Given the description of an element on the screen output the (x, y) to click on. 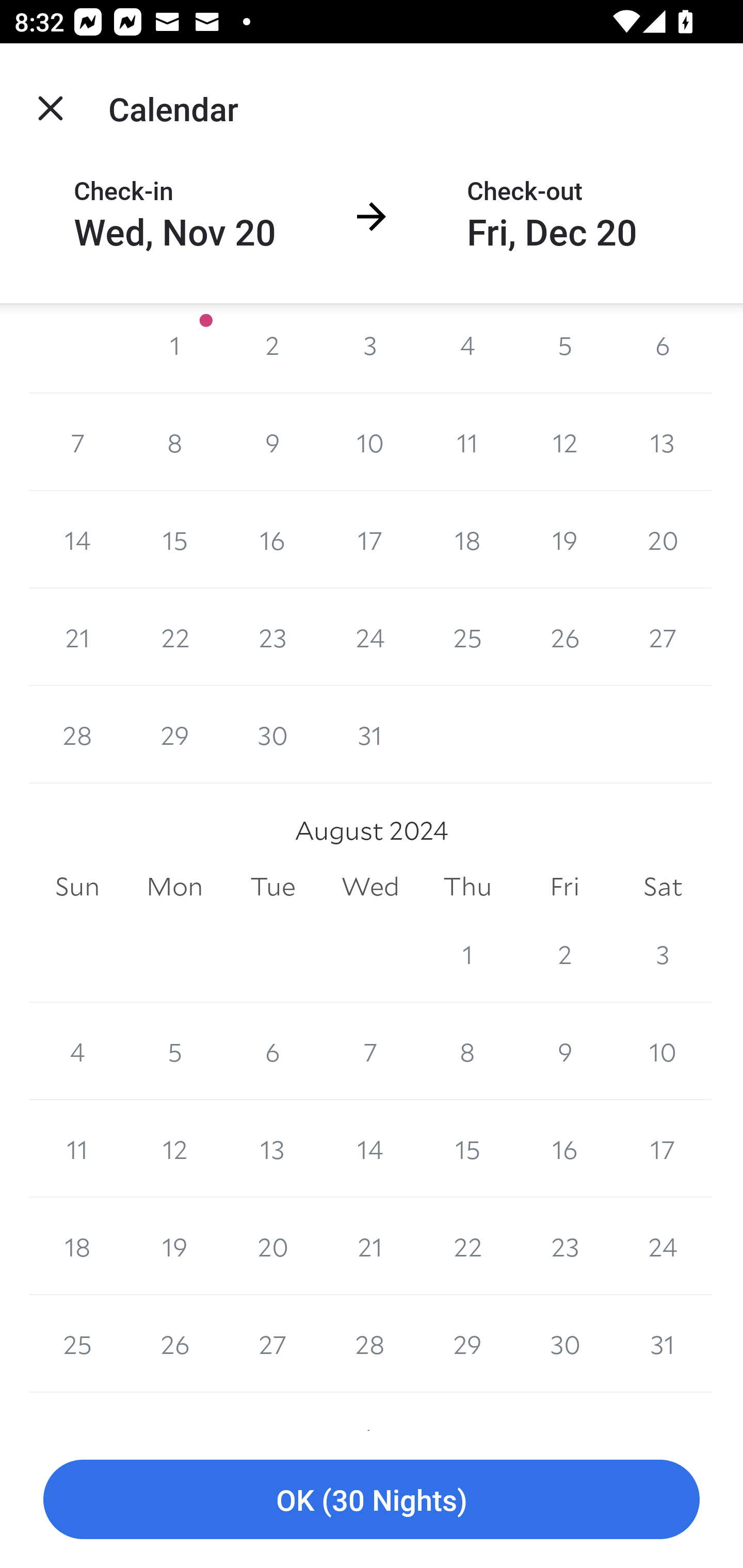
1 1 July 2024 (174, 347)
2 2 July 2024 (272, 347)
3 3 July 2024 (370, 347)
4 4 July 2024 (467, 347)
5 5 July 2024 (564, 347)
6 6 July 2024 (662, 347)
7 7 July 2024 (77, 441)
8 8 July 2024 (174, 441)
9 9 July 2024 (272, 441)
10 10 July 2024 (370, 441)
11 11 July 2024 (467, 441)
12 12 July 2024 (564, 441)
13 13 July 2024 (662, 441)
14 14 July 2024 (77, 539)
15 15 July 2024 (174, 539)
16 16 July 2024 (272, 539)
17 17 July 2024 (370, 539)
18 18 July 2024 (467, 539)
19 19 July 2024 (564, 539)
20 20 July 2024 (662, 539)
21 21 July 2024 (77, 637)
22 22 July 2024 (174, 637)
23 23 July 2024 (272, 637)
24 24 July 2024 (370, 637)
25 25 July 2024 (467, 637)
26 26 July 2024 (564, 637)
27 27 July 2024 (662, 637)
28 28 July 2024 (77, 735)
29 29 July 2024 (174, 735)
30 30 July 2024 (272, 735)
31 31 July 2024 (370, 735)
Sun (77, 886)
Mon (174, 886)
Tue (272, 886)
Wed (370, 886)
Thu (467, 886)
Fri (564, 886)
Sat (662, 886)
1 1 August 2024 (467, 952)
2 2 August 2024 (564, 952)
3 3 August 2024 (662, 952)
4 4 August 2024 (77, 1050)
5 5 August 2024 (174, 1050)
6 6 August 2024 (272, 1050)
7 7 August 2024 (370, 1050)
8 8 August 2024 (467, 1050)
9 9 August 2024 (564, 1050)
10 10 August 2024 (662, 1050)
11 11 August 2024 (77, 1148)
12 12 August 2024 (174, 1148)
13 13 August 2024 (272, 1148)
14 14 August 2024 (370, 1148)
15 15 August 2024 (467, 1148)
16 16 August 2024 (564, 1148)
17 17 August 2024 (662, 1148)
18 18 August 2024 (77, 1246)
19 19 August 2024 (174, 1246)
20 20 August 2024 (272, 1246)
21 21 August 2024 (370, 1246)
22 22 August 2024 (467, 1246)
23 23 August 2024 (564, 1246)
24 24 August 2024 (662, 1246)
25 25 August 2024 (77, 1343)
26 26 August 2024 (174, 1343)
27 27 August 2024 (272, 1343)
28 28 August 2024 (370, 1343)
29 29 August 2024 (467, 1343)
30 30 August 2024 (564, 1343)
31 31 August 2024 (662, 1343)
OK (30 Nights) (371, 1499)
